Given the description of an element on the screen output the (x, y) to click on. 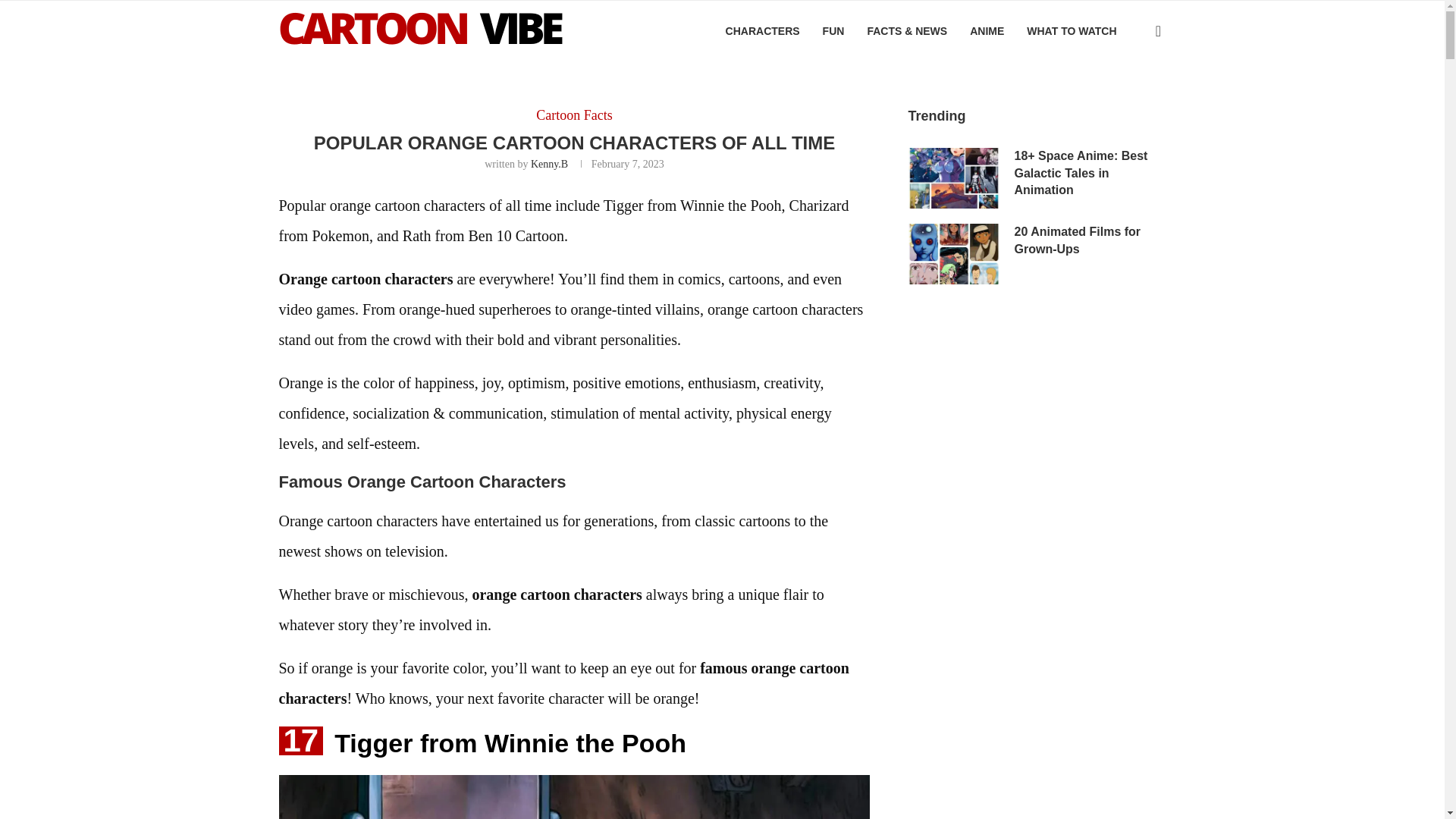
20 Animated Films for Grown-Ups (953, 253)
20 Animated Films for Grown-Ups (1090, 240)
Kenny.B (549, 163)
CHARACTERS (762, 30)
WHAT TO WATCH (1071, 30)
Cartoon Facts (573, 115)
